Given the description of an element on the screen output the (x, y) to click on. 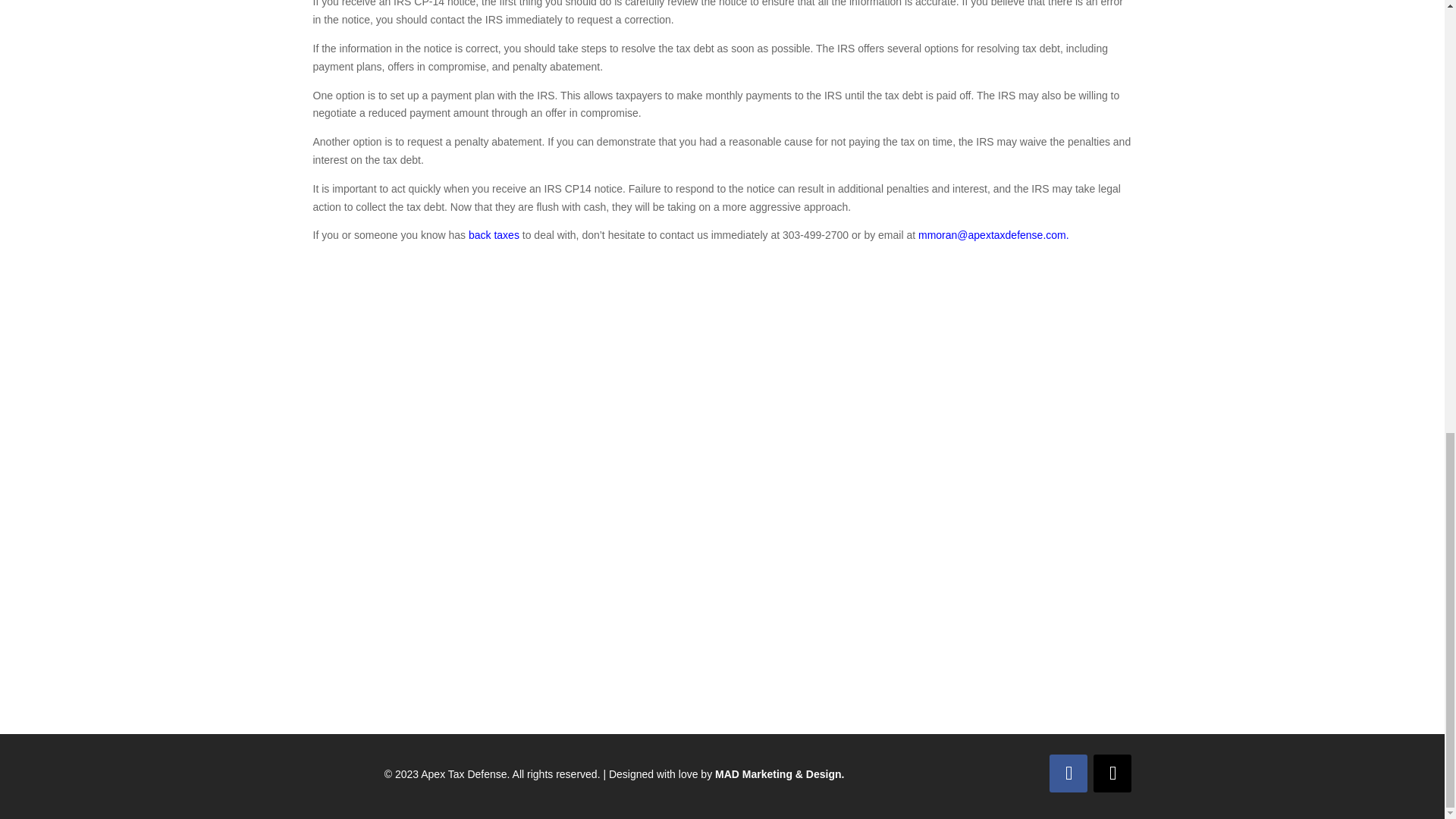
Follow on Facebook (1068, 773)
Follow on X (1112, 773)
back taxes (493, 234)
